Given the description of an element on the screen output the (x, y) to click on. 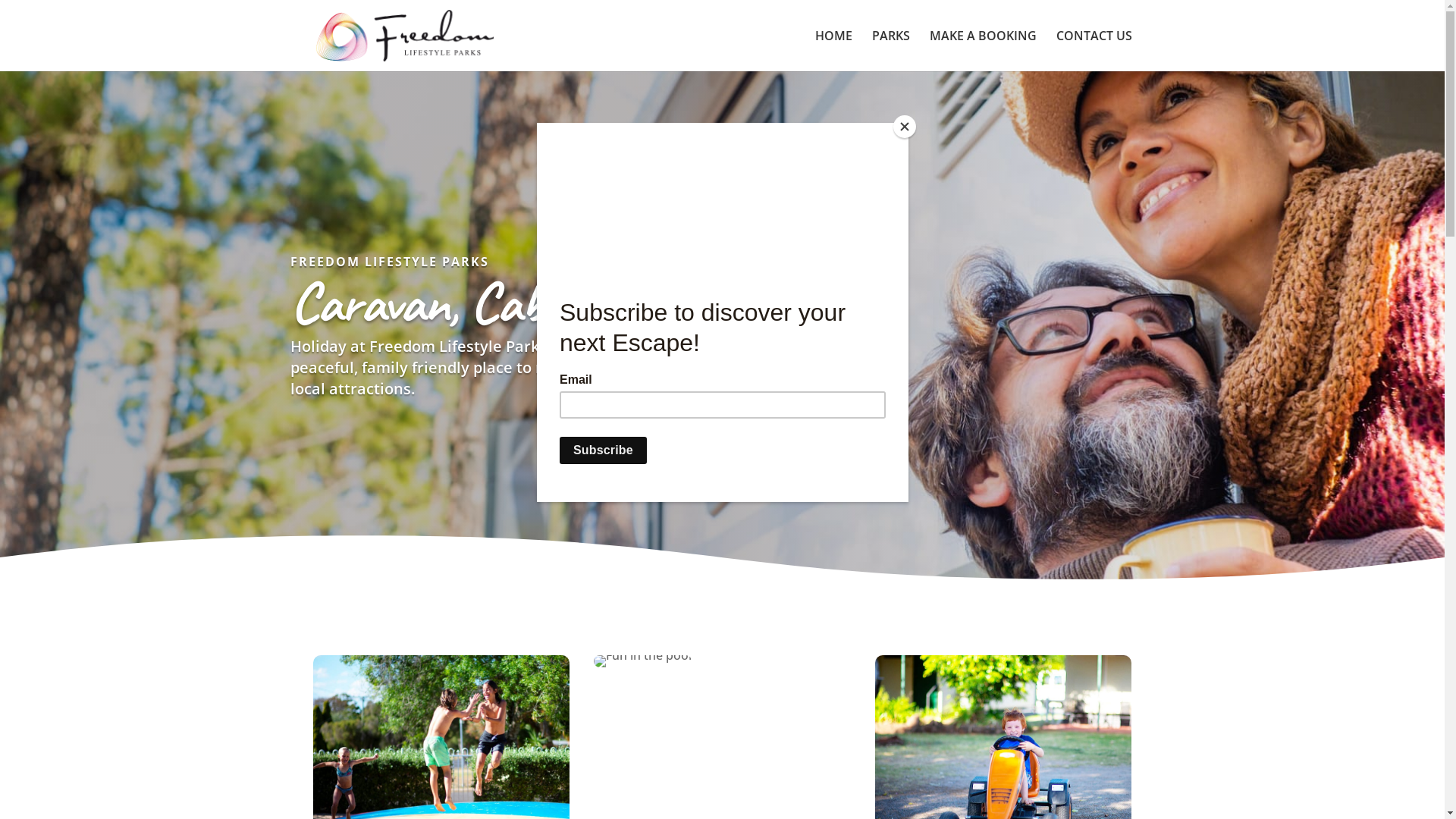
HOME Element type: text (832, 50)
MAKE A BOOKING Element type: text (982, 50)
CONTACT US Element type: text (1093, 50)
splash@2x Element type: hover (642, 661)
PARKS Element type: text (891, 50)
